Given the description of an element on the screen output the (x, y) to click on. 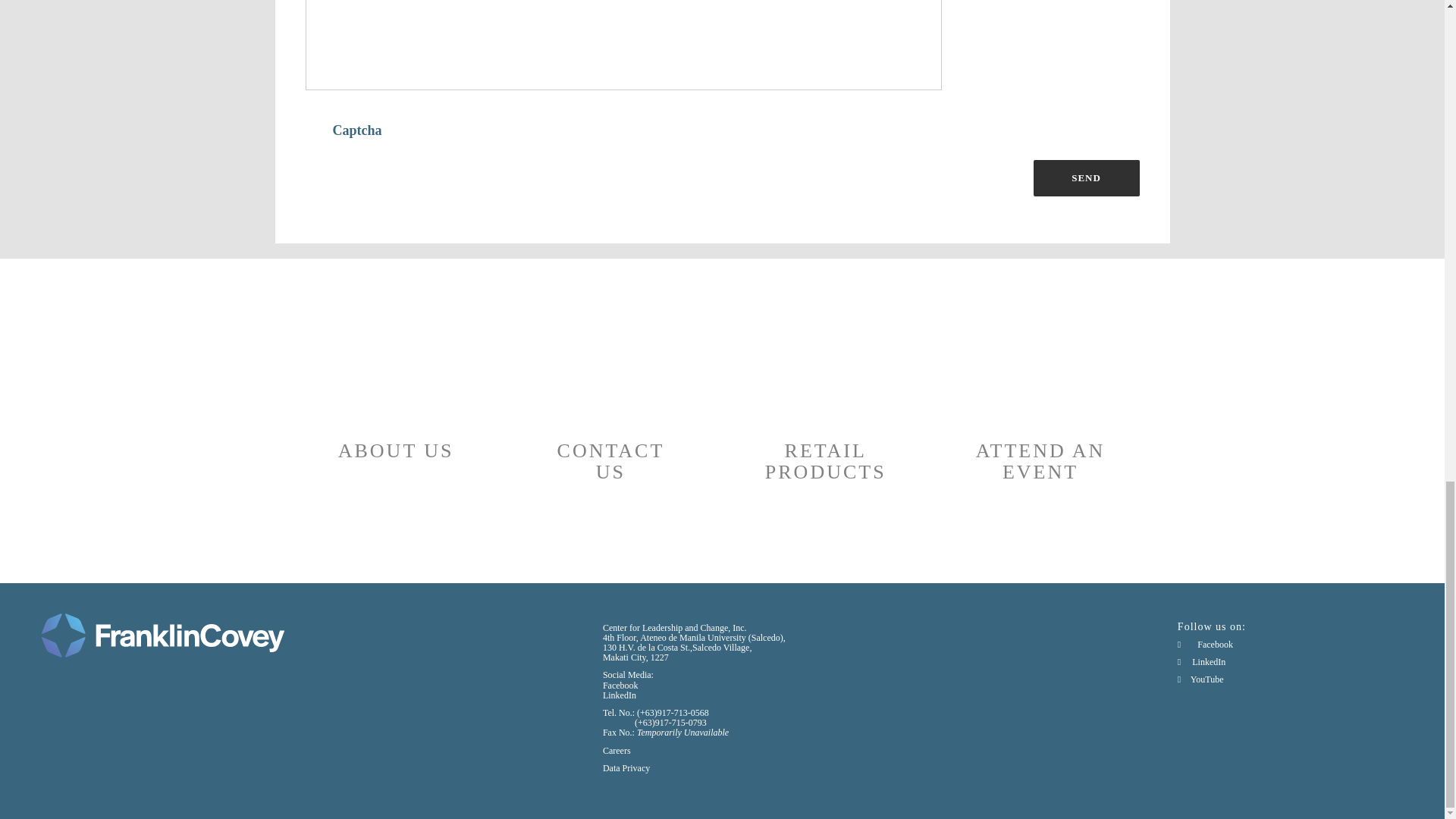
LinkedIn (1201, 661)
Send (1085, 177)
Facebook (1205, 644)
Send (1085, 177)
RETAIL PRODUCTS (825, 407)
LinkedIn (619, 695)
ATTEND AN EVENT (1039, 407)
Data Privacy (625, 767)
ABOUT US (394, 396)
YouTube (1200, 679)
